Given the description of an element on the screen output the (x, y) to click on. 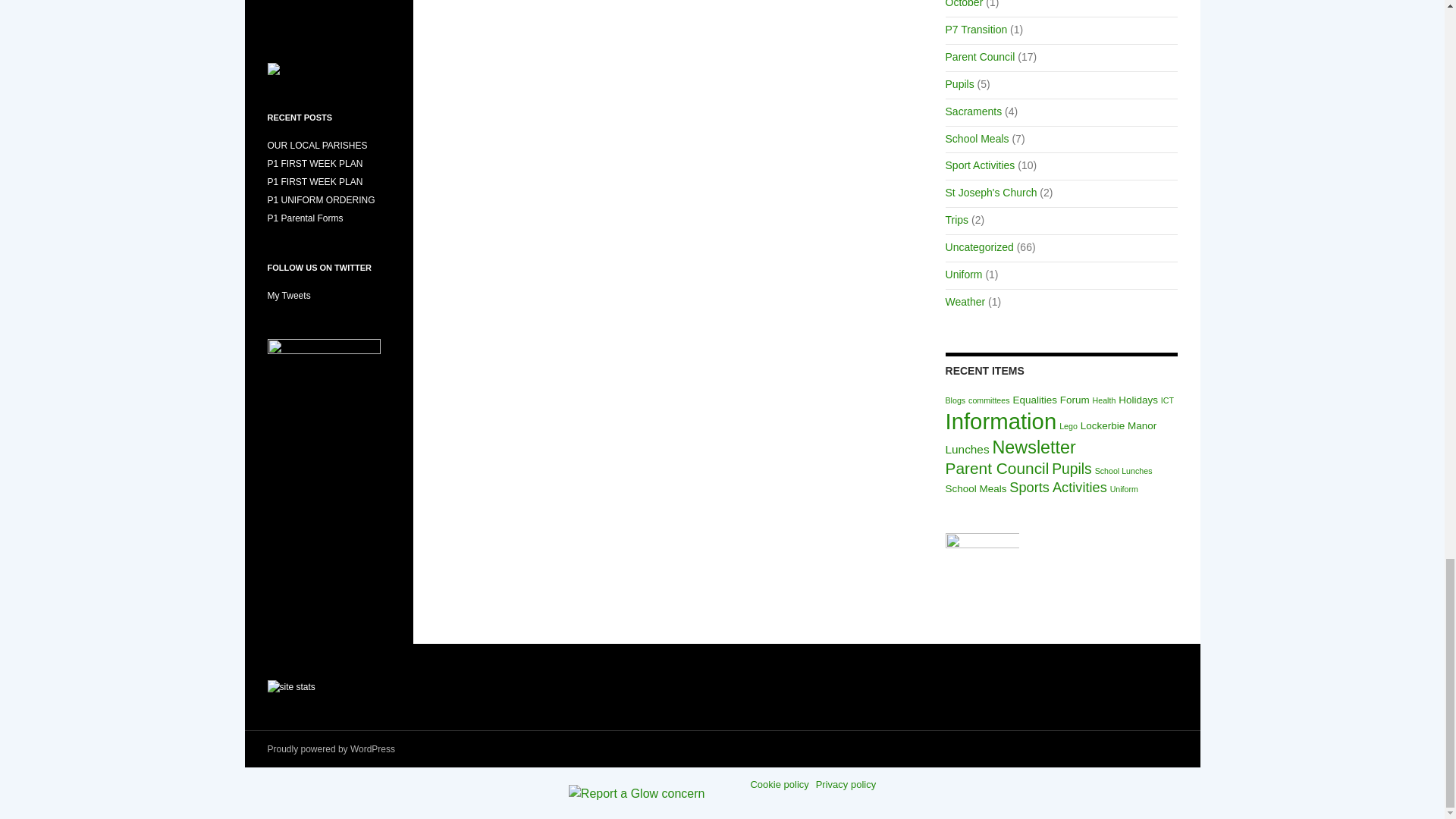
site stats (290, 686)
